Given the description of an element on the screen output the (x, y) to click on. 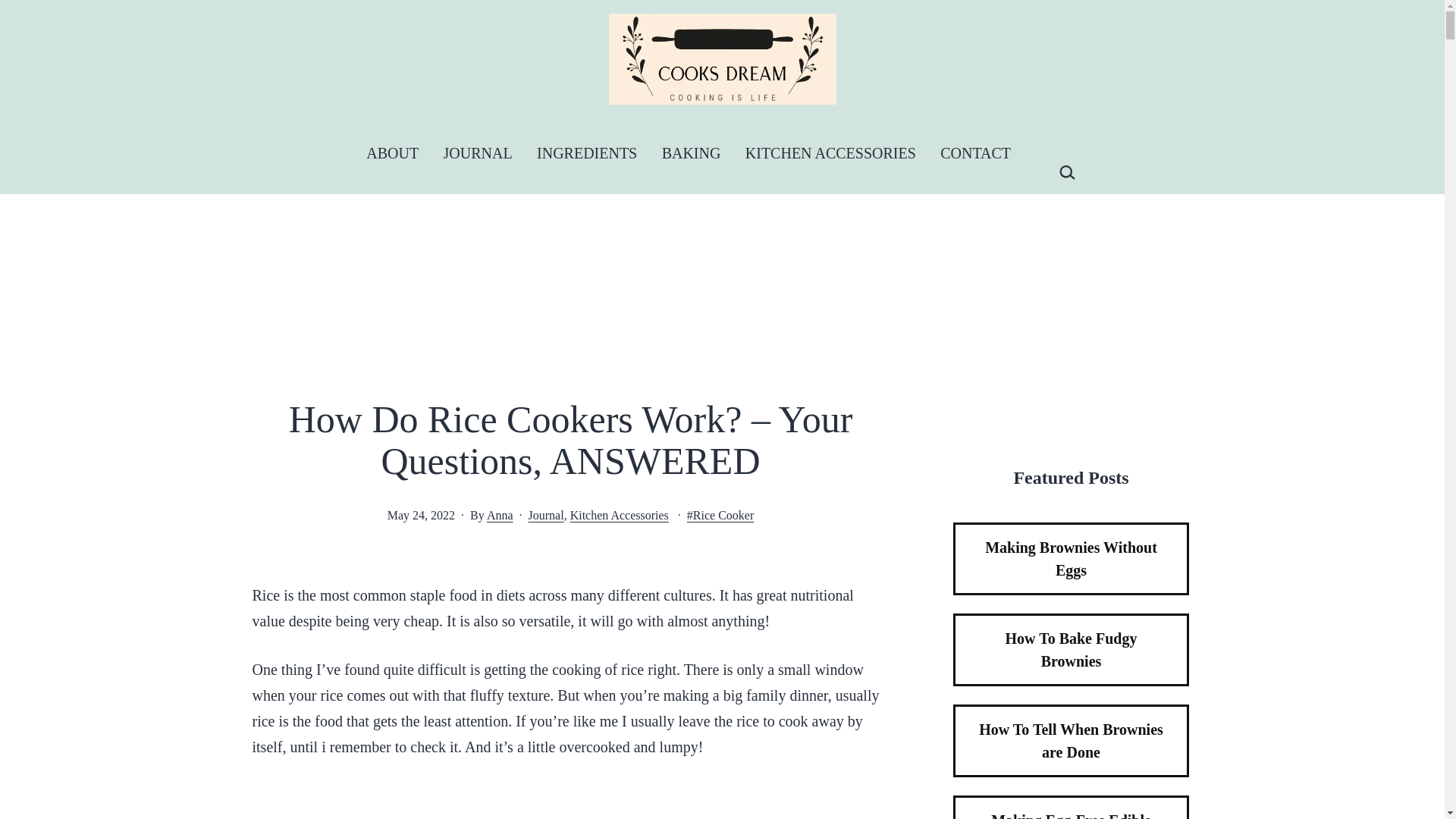
JOURNAL (477, 153)
Journal (546, 514)
BAKING (690, 153)
KITCHEN ACCESSORIES (830, 153)
INGREDIENTS (587, 153)
Kitchen Accessories (619, 514)
CONTACT (975, 153)
Anna (499, 514)
ABOUT (392, 153)
Rice Cooker (720, 514)
